Given the description of an element on the screen output the (x, y) to click on. 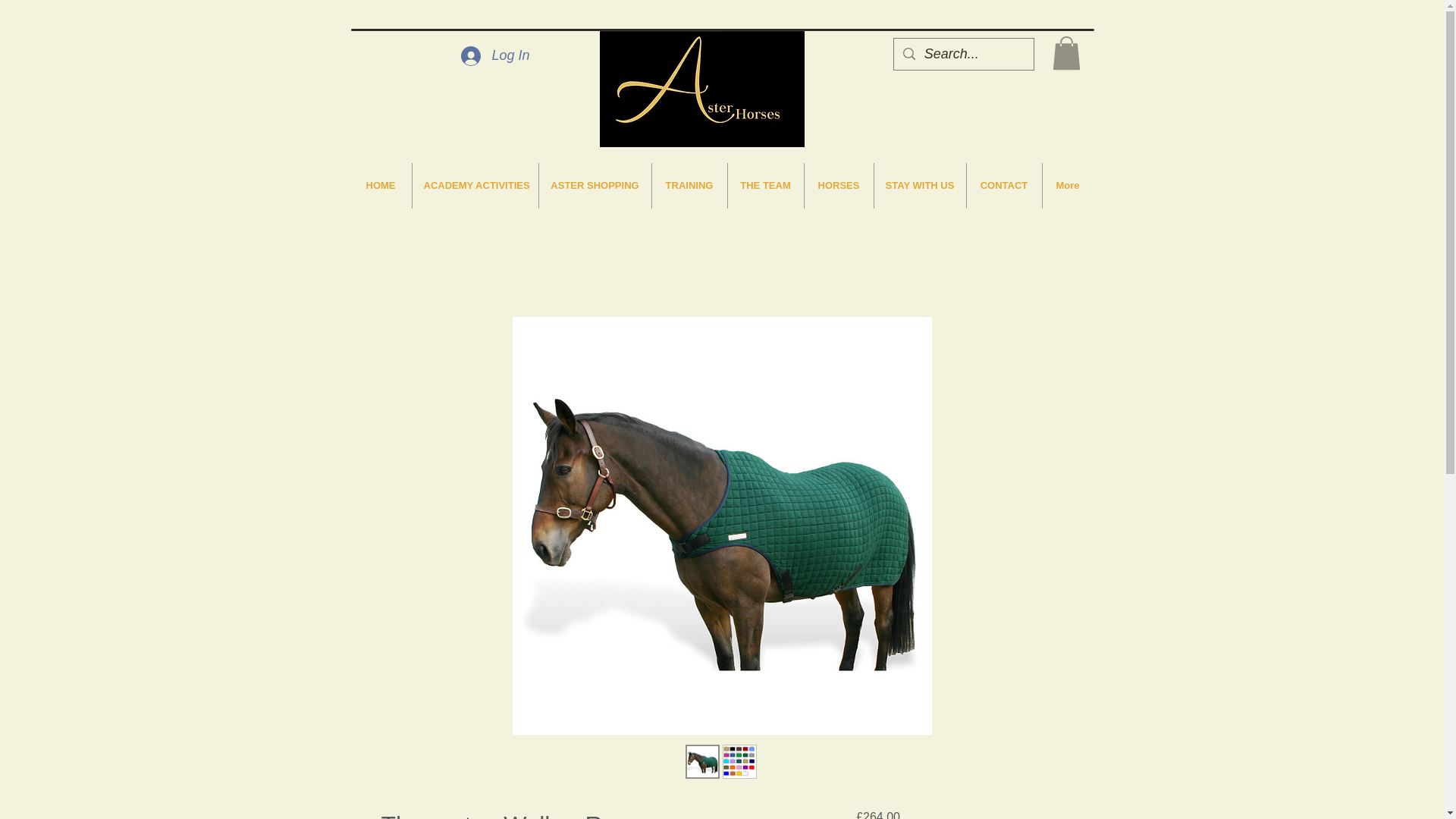
STAY WITH US (919, 185)
CONTACT (1003, 185)
ASTER SHOPPING (594, 185)
Log In (494, 55)
HOME (381, 185)
THE TEAM (765, 185)
TRAINING (689, 185)
HORSES (837, 185)
ACADEMY ACTIVITIES (475, 185)
